Given the description of an element on the screen output the (x, y) to click on. 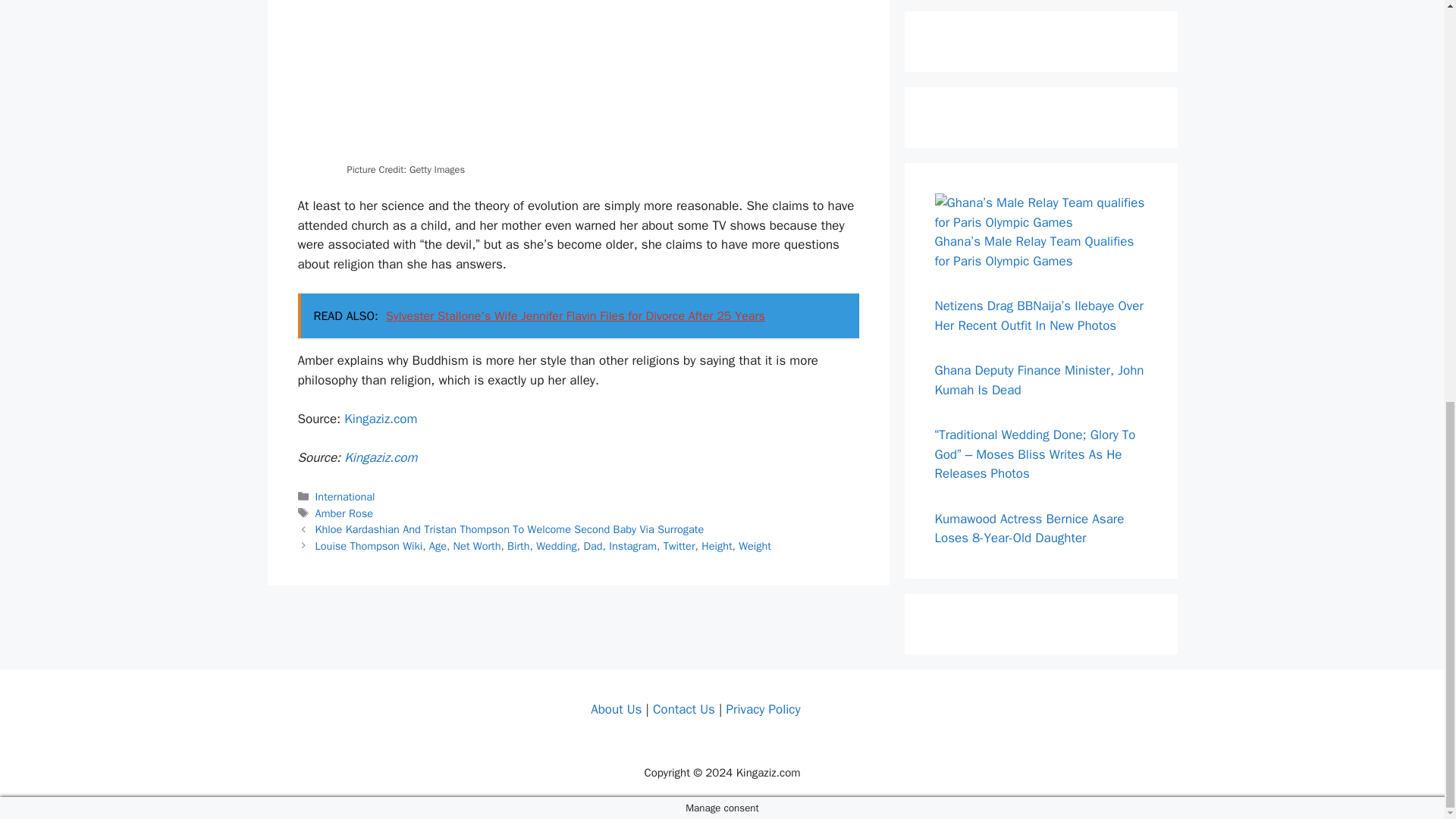
About Us (616, 708)
International (345, 496)
Privacy Policy (762, 708)
Contact Us (683, 708)
Kingaziz.com (379, 457)
Kumawood Actress Bernice Asare Loses 8-Year-Old Daughter (1029, 529)
Amber Rose (343, 513)
Kingaziz.com (379, 418)
Ghana Deputy Finance Minister, John Kumah Is Dead (1038, 380)
